Given the description of an element on the screen output the (x, y) to click on. 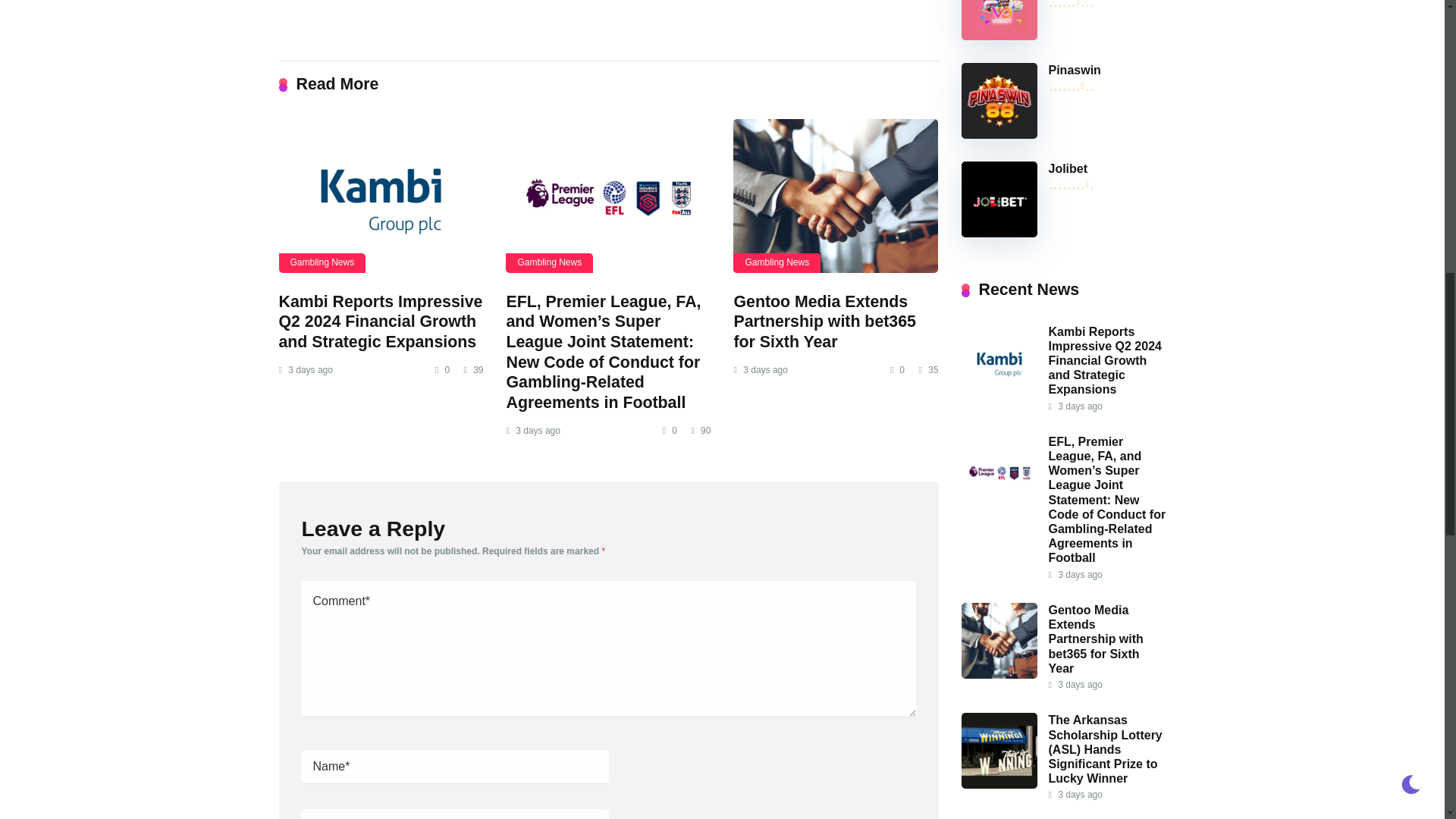
Gambling News (322, 262)
Gambling News (548, 262)
Pinaswin (1074, 69)
Gentoo Media Extends Partnership with bet365 for Sixth Year (835, 195)
Voslot Online Casino (998, 35)
Gentoo Media Extends Partnership with bet365 for Sixth Year (824, 321)
Gambling News (777, 262)
Jolibet (1067, 169)
Gentoo Media Extends Partnership with bet365 for Sixth Year (824, 321)
